Given the description of an element on the screen output the (x, y) to click on. 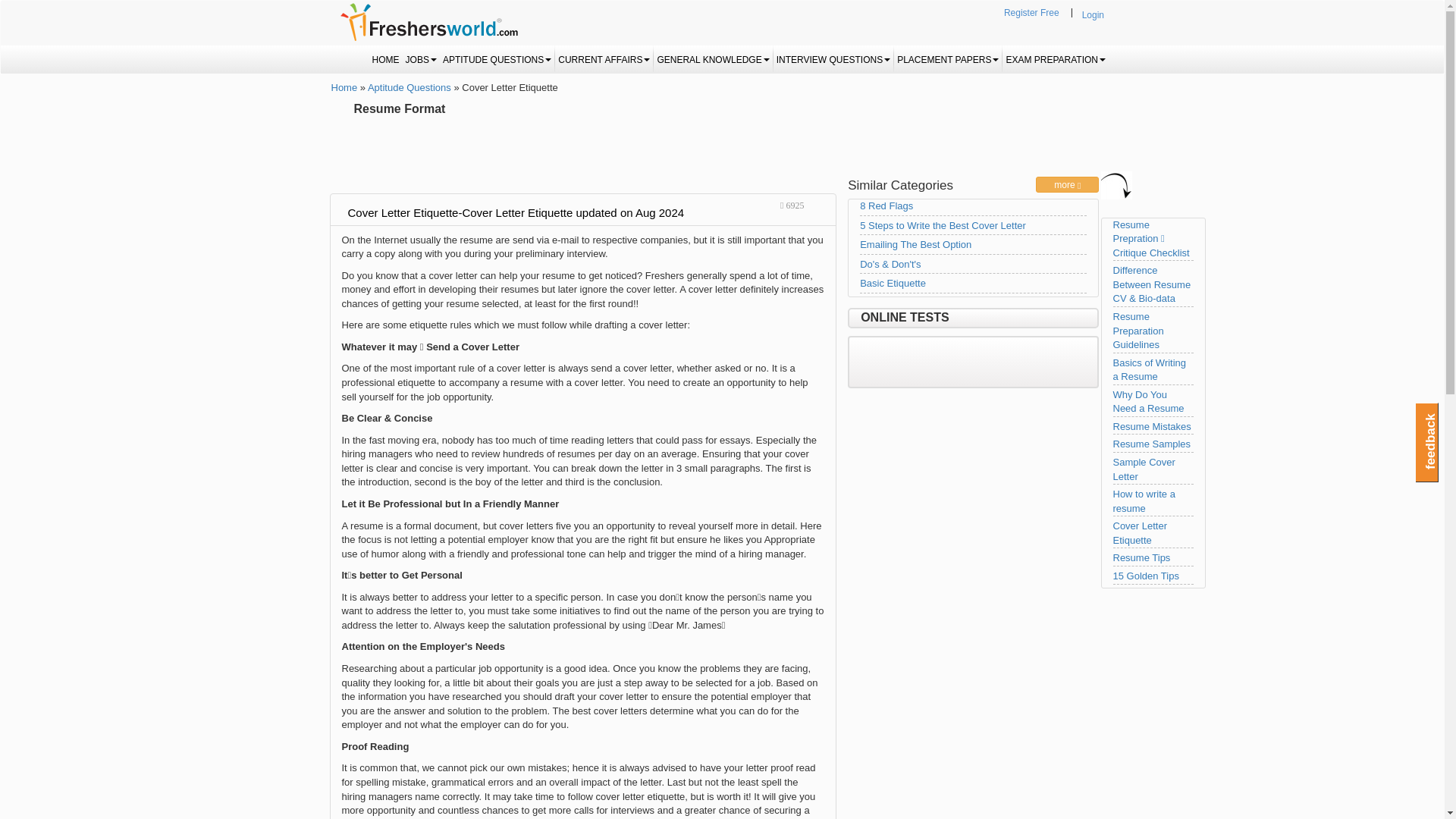
Login (1092, 15)
India's No.1 Job Portal for freshers - Freshersworld.com (428, 21)
JOBS (421, 59)
Register Free (1031, 13)
HOME (386, 59)
JOBS (421, 59)
HOME (386, 59)
